Given the description of an element on the screen output the (x, y) to click on. 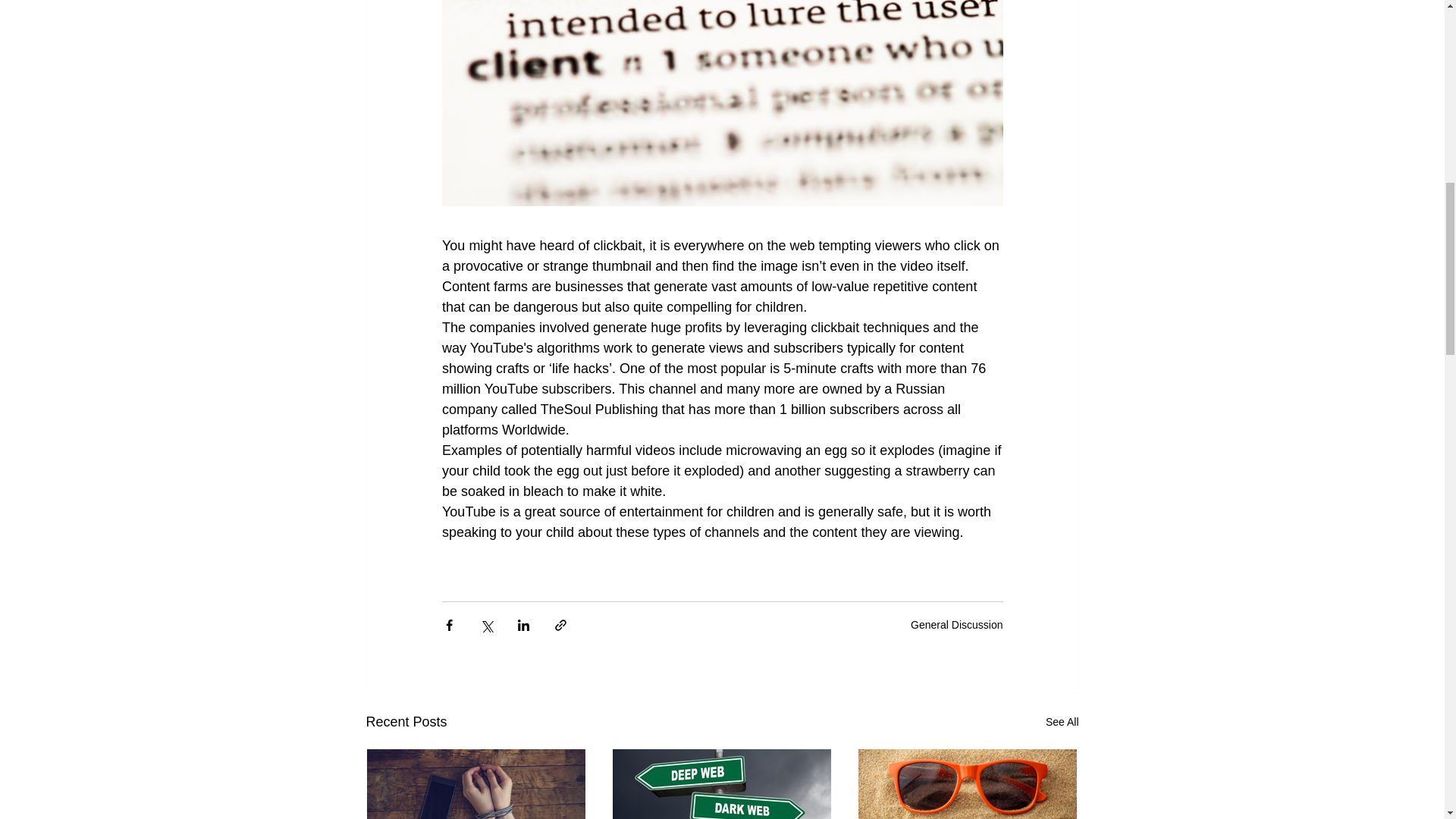
See All (1061, 722)
General Discussion (957, 624)
